Given the description of an element on the screen output the (x, y) to click on. 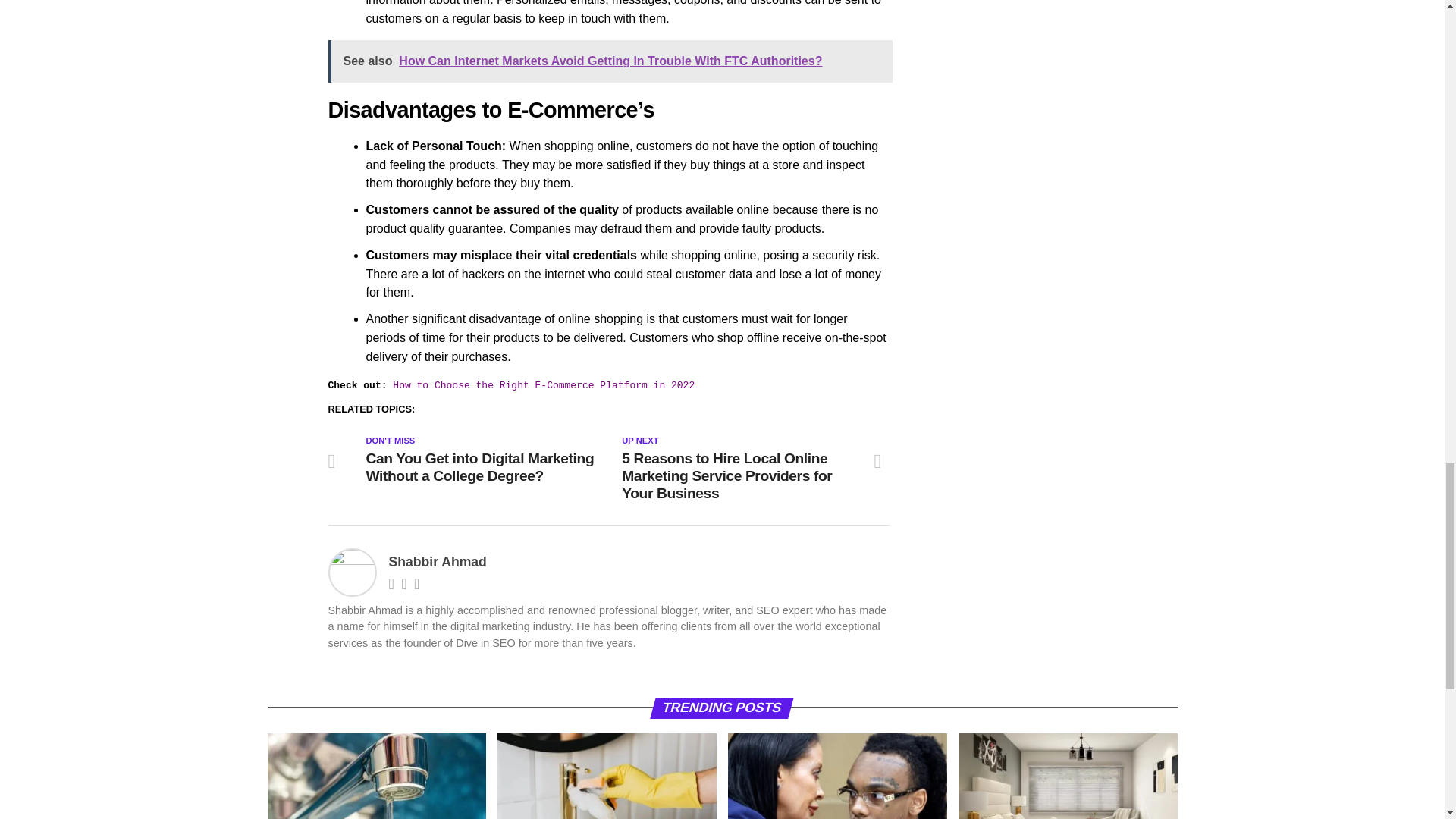
Posts by Shabbir Ahmad (437, 561)
